Given the description of an element on the screen output the (x, y) to click on. 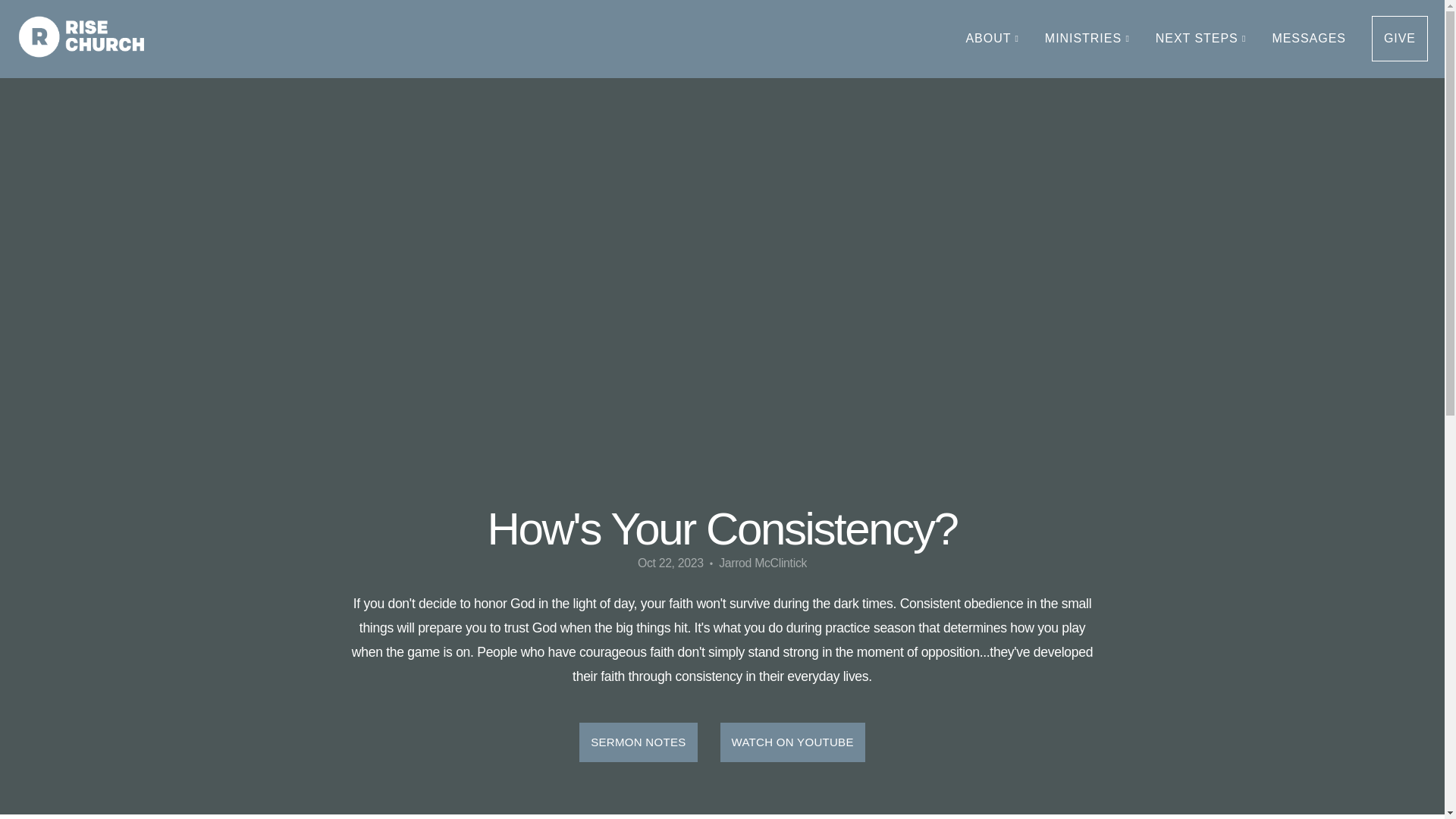
MINISTRIES  (1087, 38)
WATCH ON YOUTUBE (792, 742)
MESSAGES (1308, 38)
GIVE (1399, 38)
NEXT STEPS  (1200, 38)
SERMON NOTES (638, 742)
ABOUT  (991, 38)
